Given the description of an element on the screen output the (x, y) to click on. 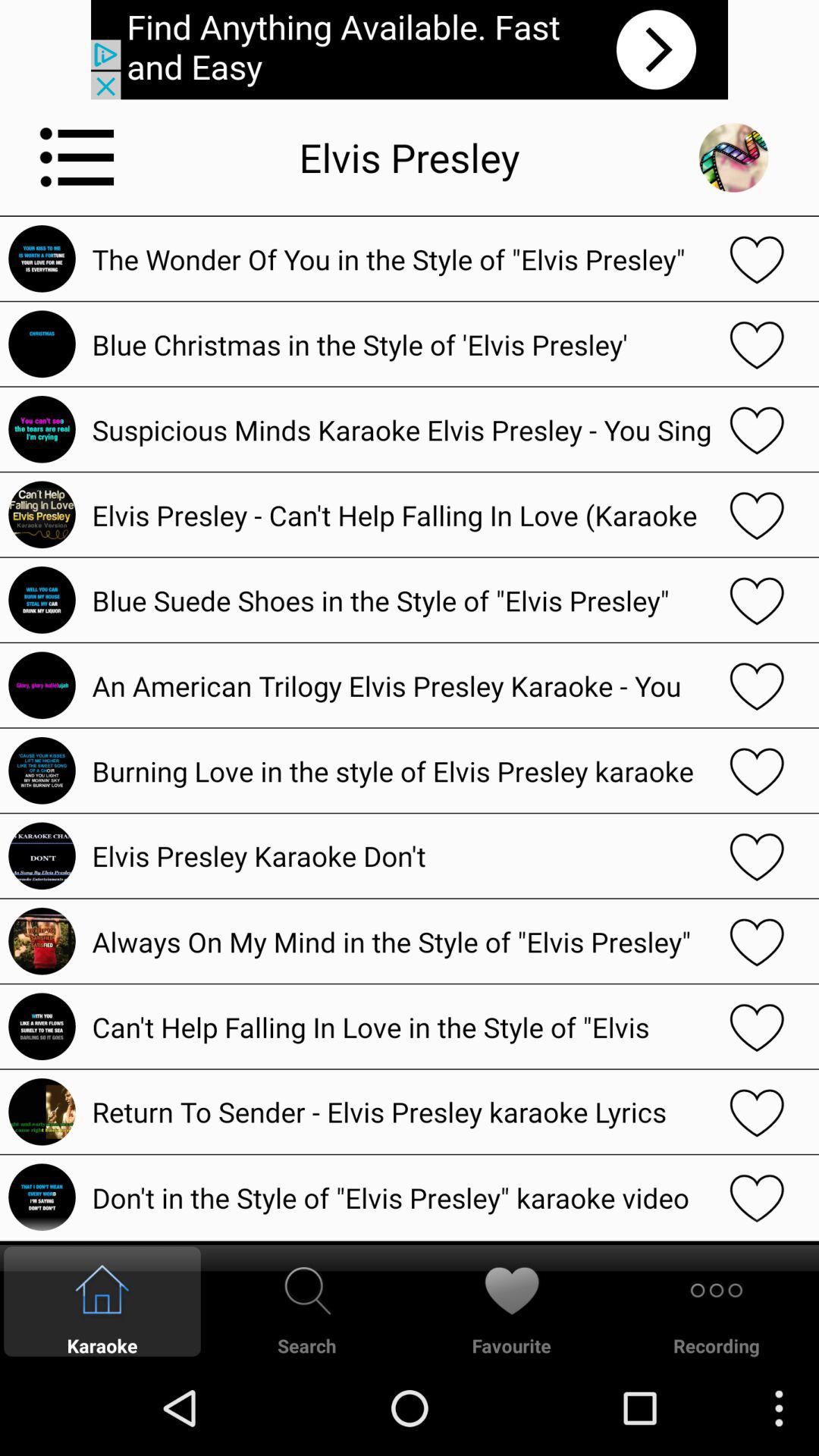
select the option (756, 343)
